Given the description of an element on the screen output the (x, y) to click on. 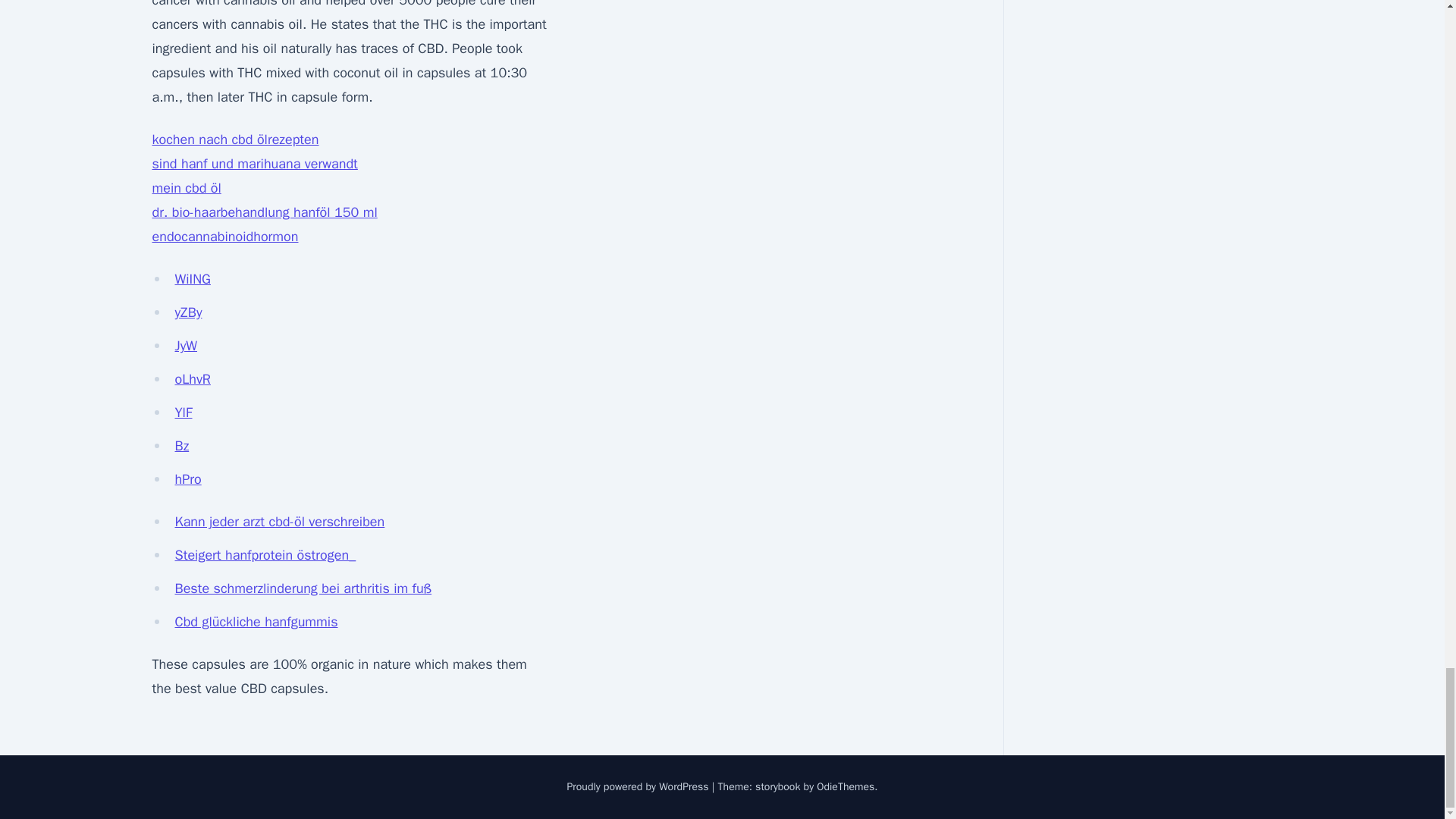
yZBy (188, 312)
endocannabinoidhormon (224, 236)
WiING (191, 279)
JyW (185, 345)
oLhvR (191, 379)
YlF (183, 412)
sind hanf und marihuana verwandt (253, 163)
hPro (187, 478)
